Given the description of an element on the screen output the (x, y) to click on. 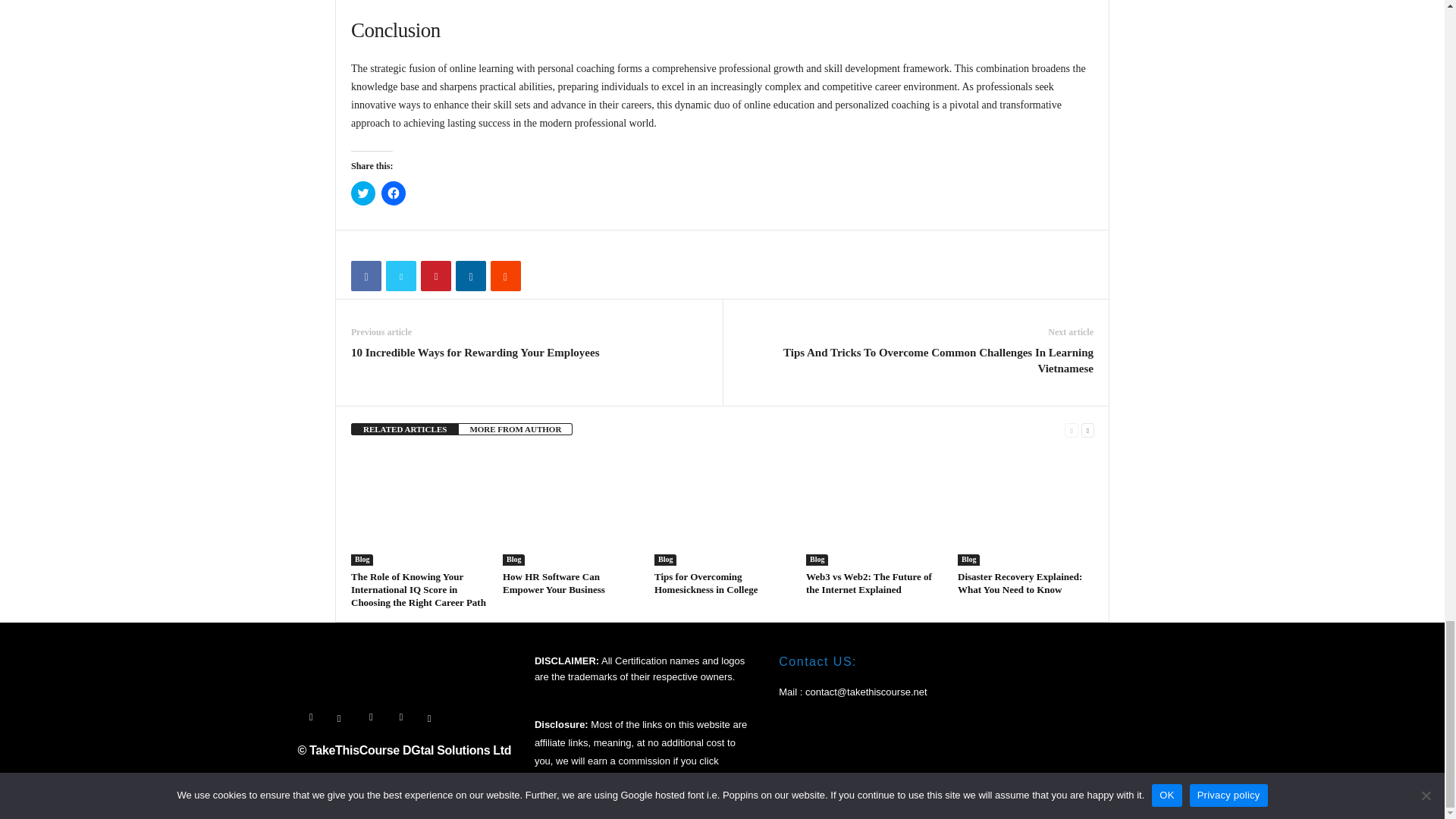
How HR Software Can Empower Your Business (570, 508)
Tips for Overcoming Homesickness in College (705, 582)
Web3 vs Web2: The Future of the Internet Explained (874, 508)
Tips for Overcoming Homesickness in College (721, 508)
Click to share on Facebook (393, 192)
How HR Software Can Empower Your Business (553, 582)
Click to share on Twitter (362, 192)
